Given the description of an element on the screen output the (x, y) to click on. 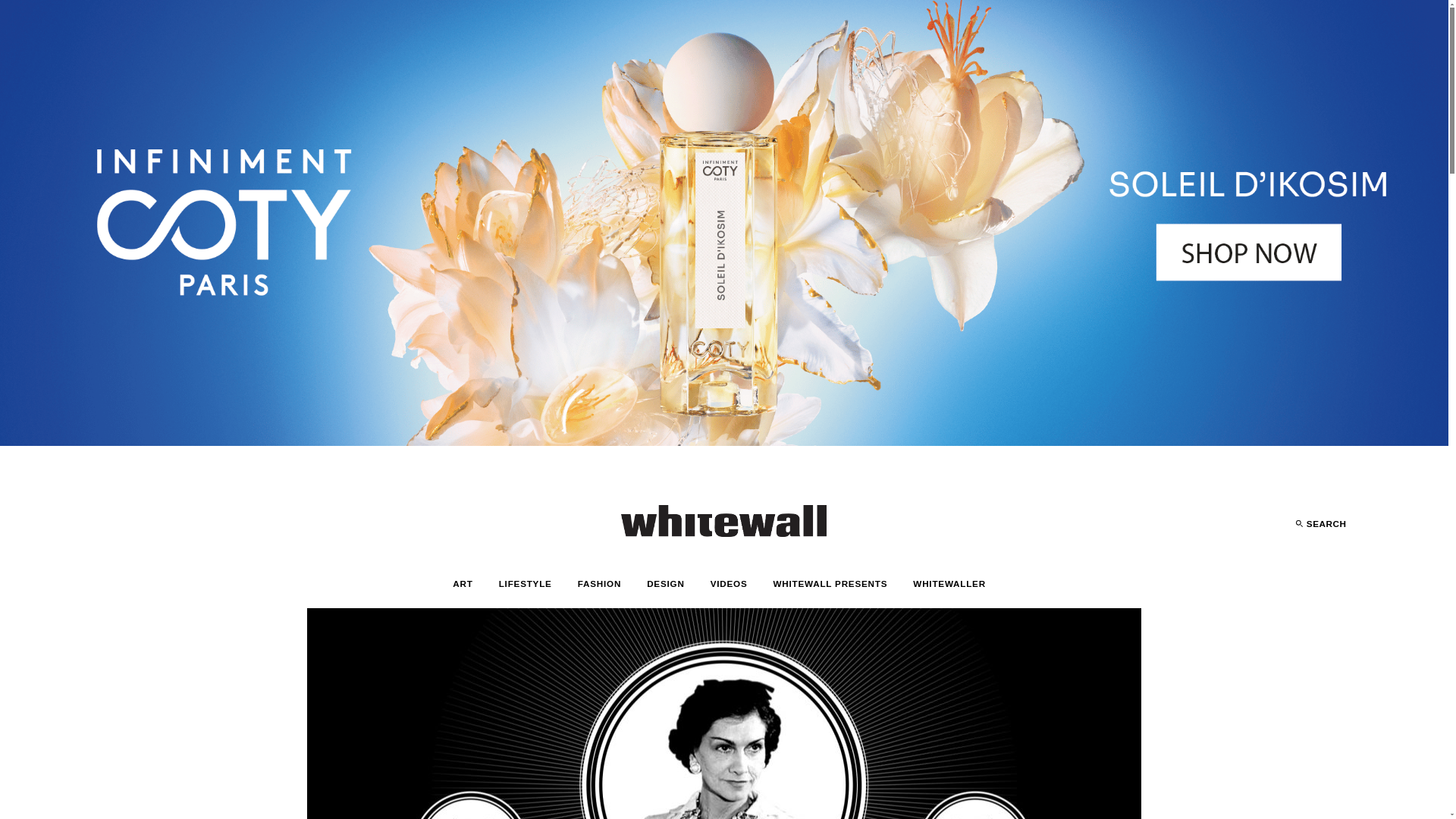
DESIGN (665, 583)
Skip to content (11, 31)
LIFESTYLE (525, 583)
VIDEOS (729, 583)
FASHION (599, 583)
WHITEWALL PRESENTS (829, 583)
WHITEWALLER (949, 583)
ART (462, 583)
